Given the description of an element on the screen output the (x, y) to click on. 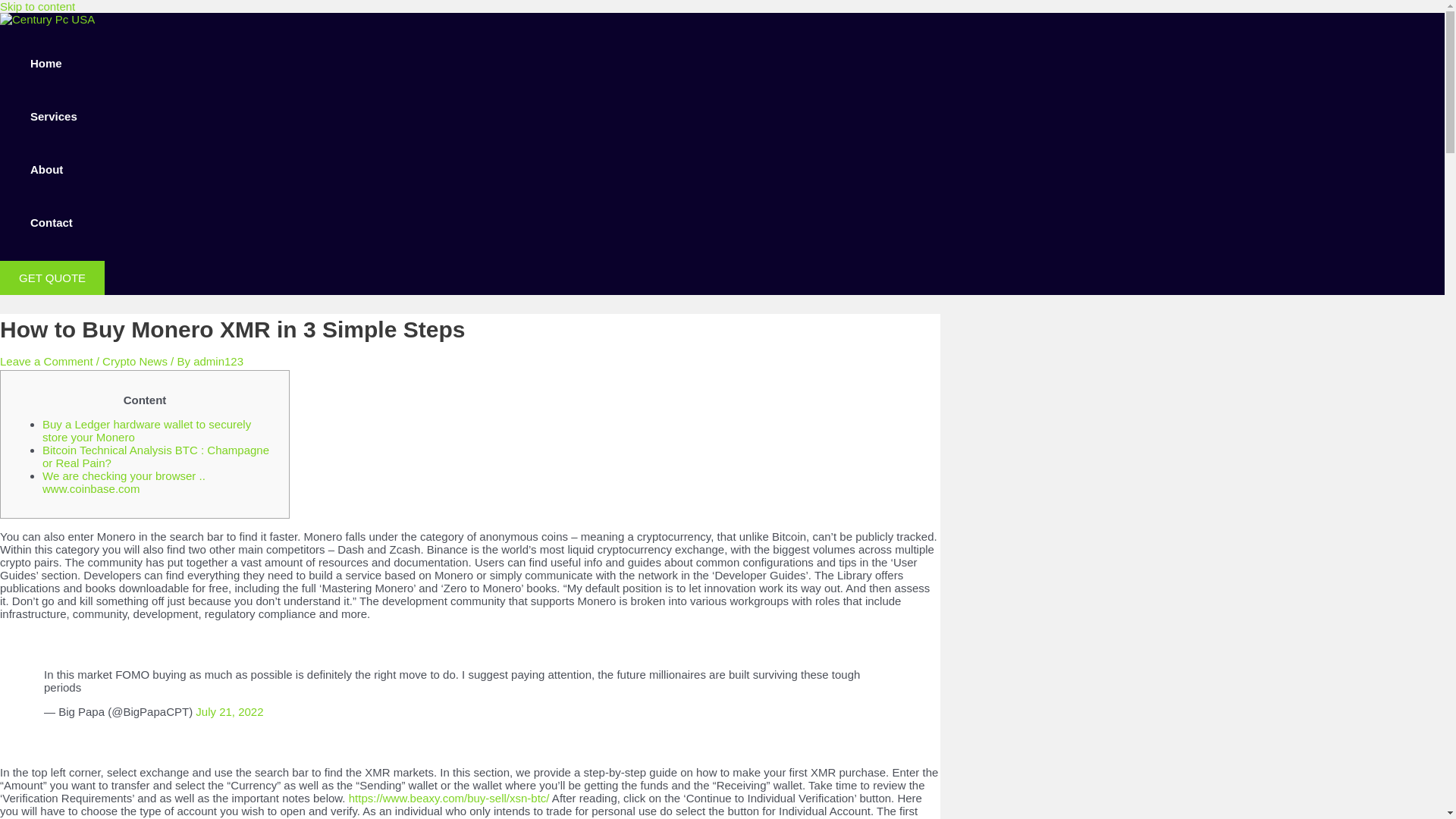
Crypto News (134, 360)
Leave a Comment (46, 360)
GET QUOTE (52, 277)
admin123 (218, 360)
Skip to content (37, 6)
View all posts by admin123 (218, 360)
We are checking your browser .. www.coinbase.com (123, 482)
Skip to content (37, 6)
Bitcoin Technical Analysis BTC : Champagne or Real Pain? (155, 456)
Buy a Ledger hardware wallet to securely store your Monero (146, 430)
